Given the description of an element on the screen output the (x, y) to click on. 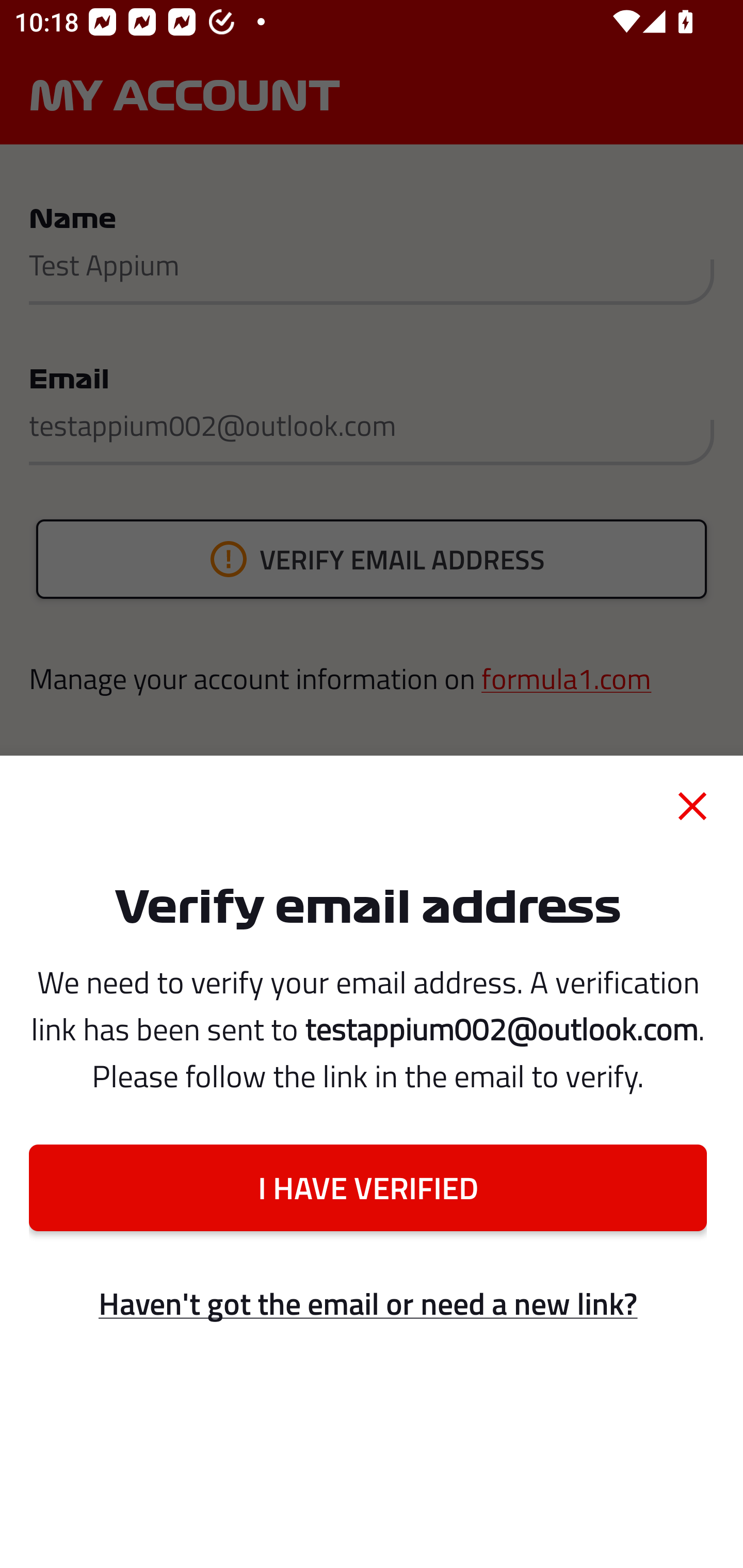
I HAVE VERIFIED (367, 1187)
Haven't got the email or need a new link? (367, 1303)
